Given the description of an element on the screen output the (x, y) to click on. 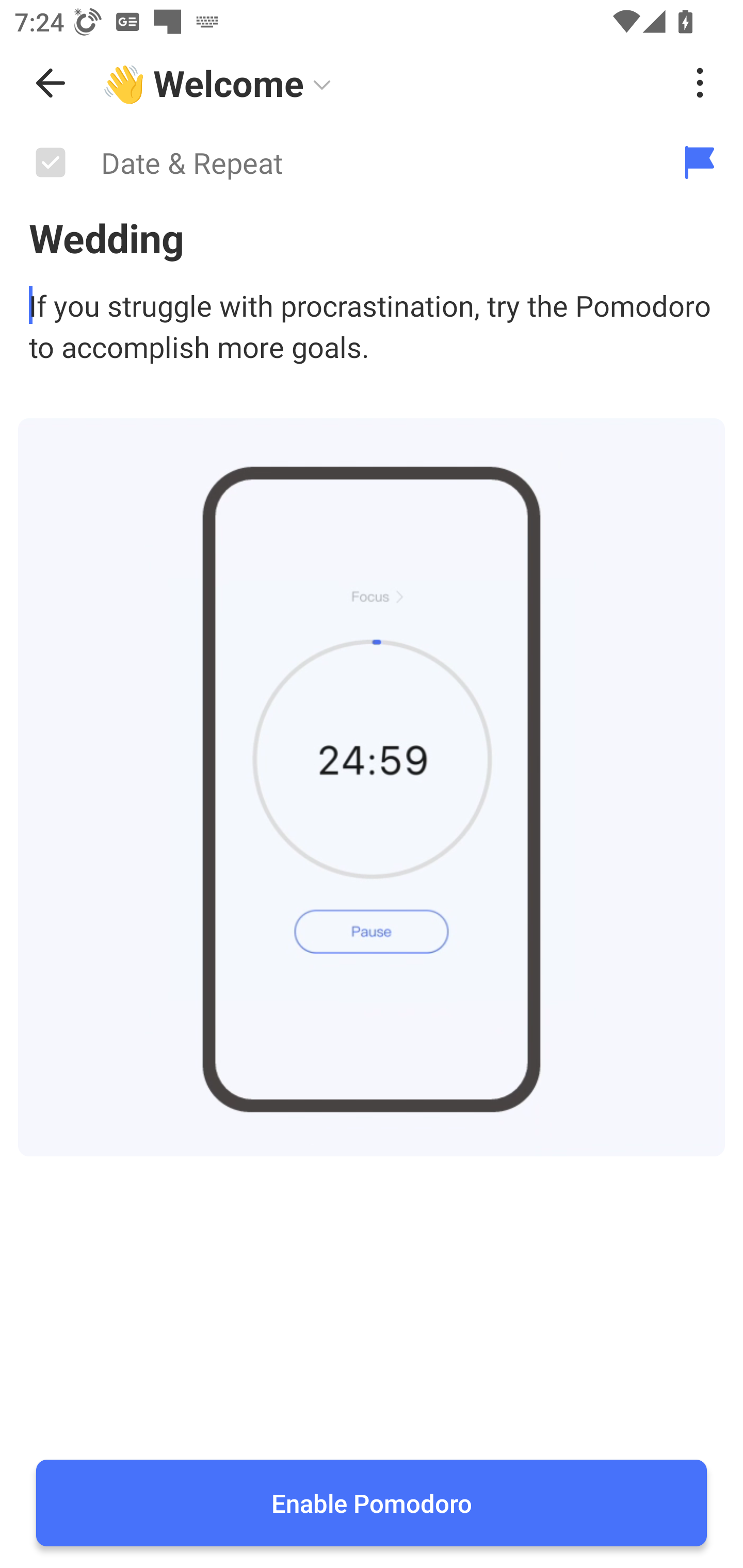
👋 Welcome (384, 82)
Date & Repeat (328, 163)
Wedding (371, 237)
Enable Pomodoro (371, 1502)
